Given the description of an element on the screen output the (x, y) to click on. 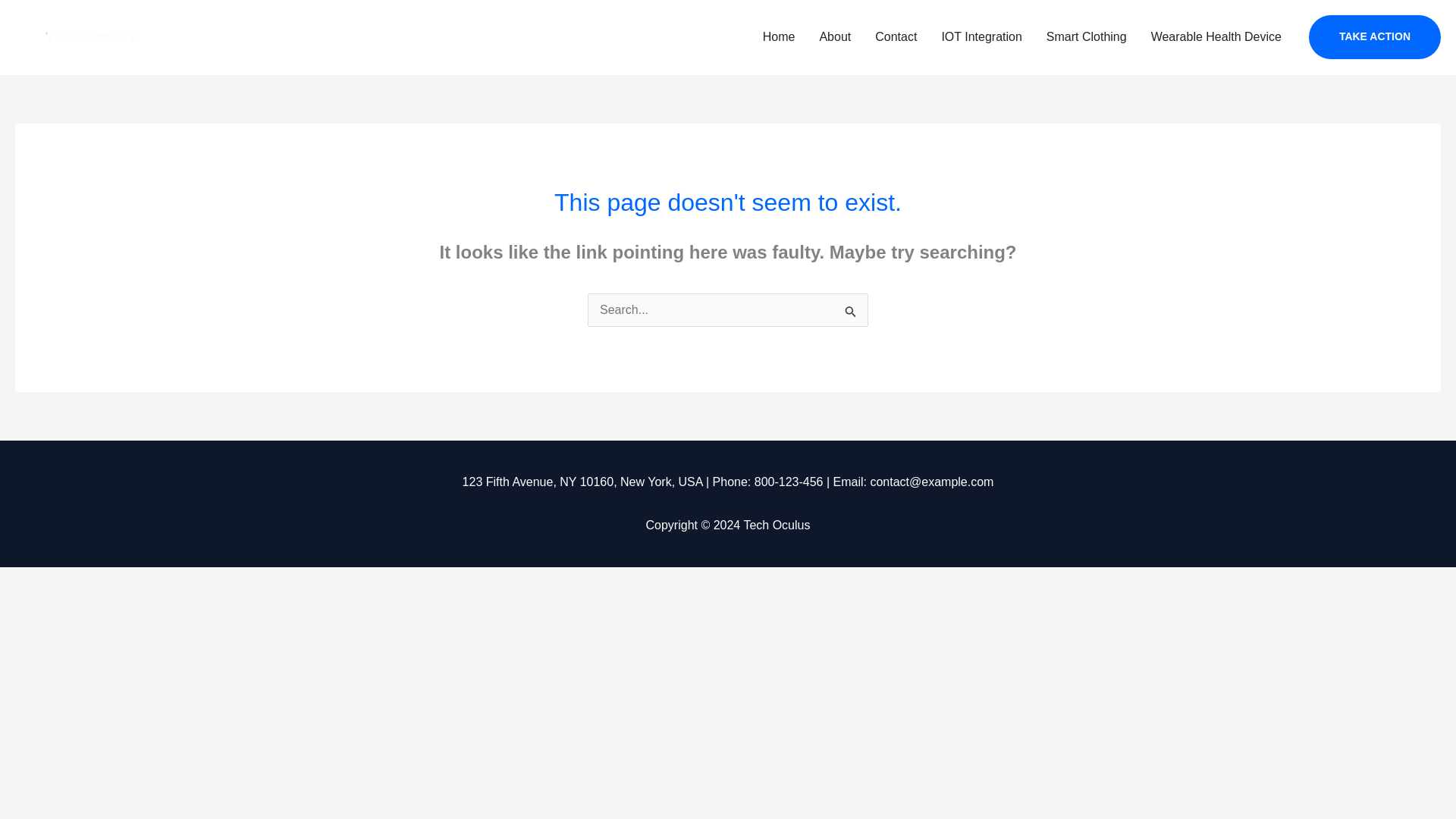
Home (779, 36)
About (834, 36)
TAKE ACTION (1374, 36)
Wearable Health Device (1216, 36)
IOT Integration (980, 36)
Contact (895, 36)
Smart Clothing (1085, 36)
